Given the description of an element on the screen output the (x, y) to click on. 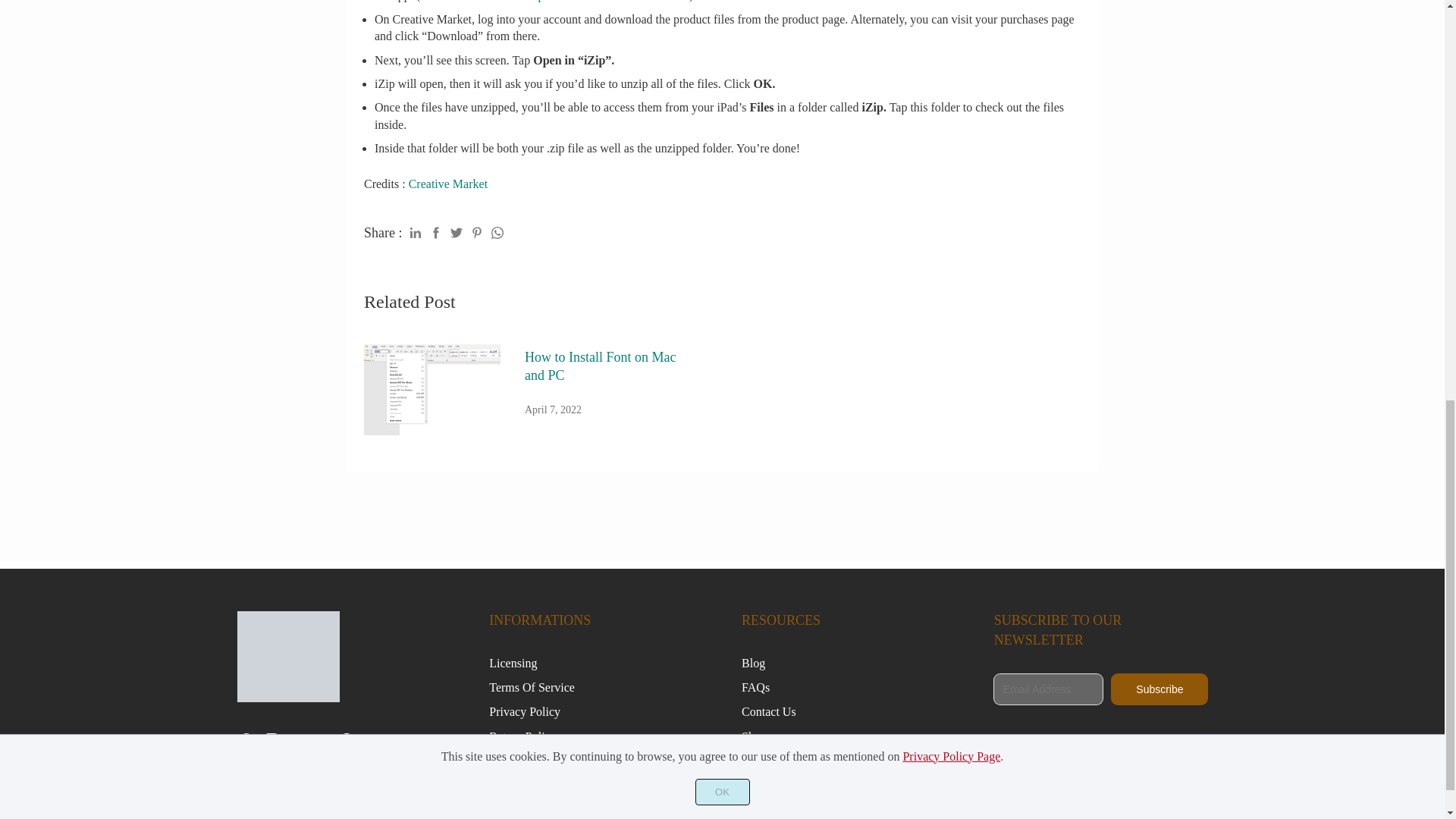
Licensing (513, 662)
Share to Facebook (435, 232)
Creative Market (448, 183)
Shop (754, 736)
Open Facebook (244, 745)
Open Pinterest (345, 745)
Open Youtube Channel (295, 745)
Terms Of Service (532, 686)
Share to Pinterest (476, 232)
FAQs (755, 686)
